Given the description of an element on the screen output the (x, y) to click on. 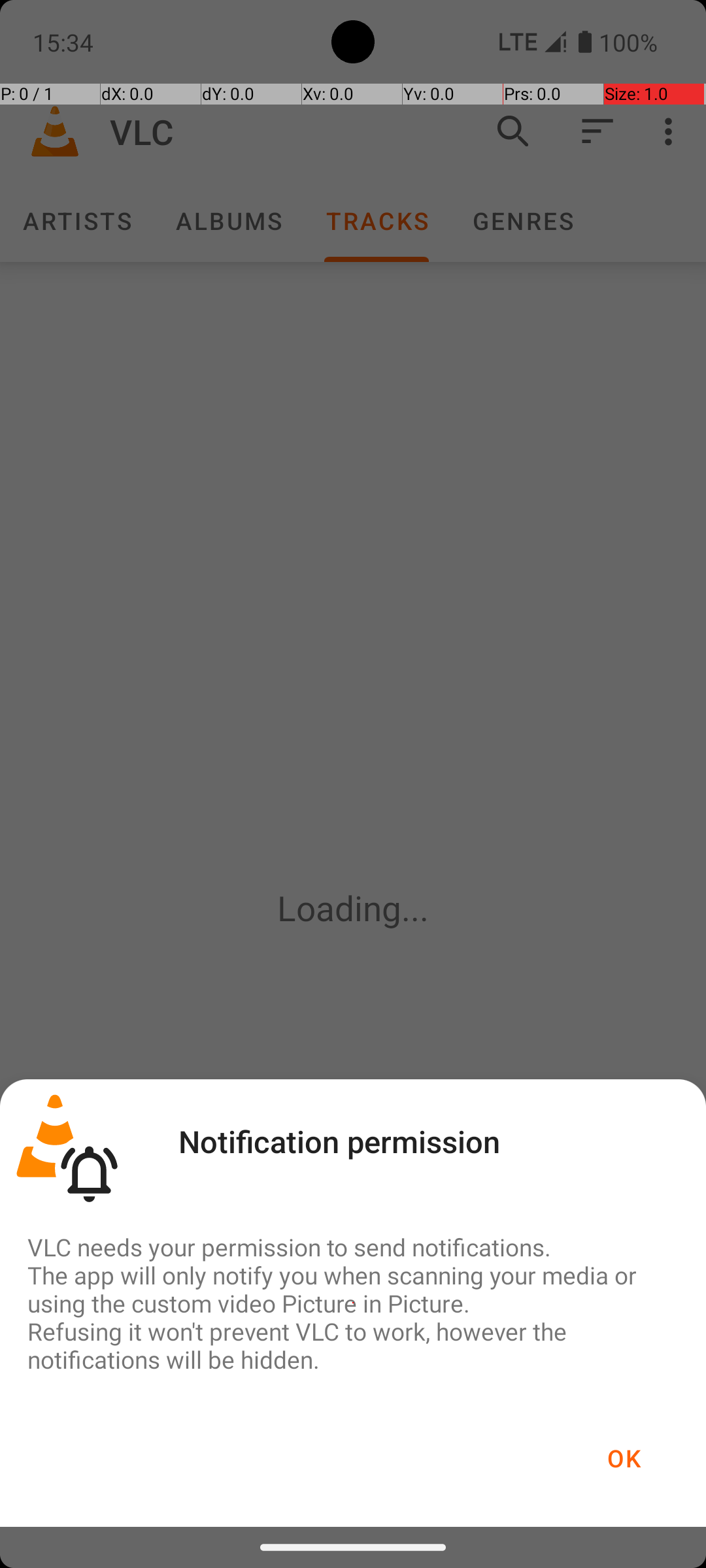
Notification permission Element type: android.widget.TextView (339, 1141)
VLC needs your permission to send notifications.
The app will only notify you when scanning your media or using the custom video Picture in Picture.
Refusing it won't prevent VLC to work, however the notifications will be hidden. Element type: android.widget.TextView (352, 1302)
